Given the description of an element on the screen output the (x, y) to click on. 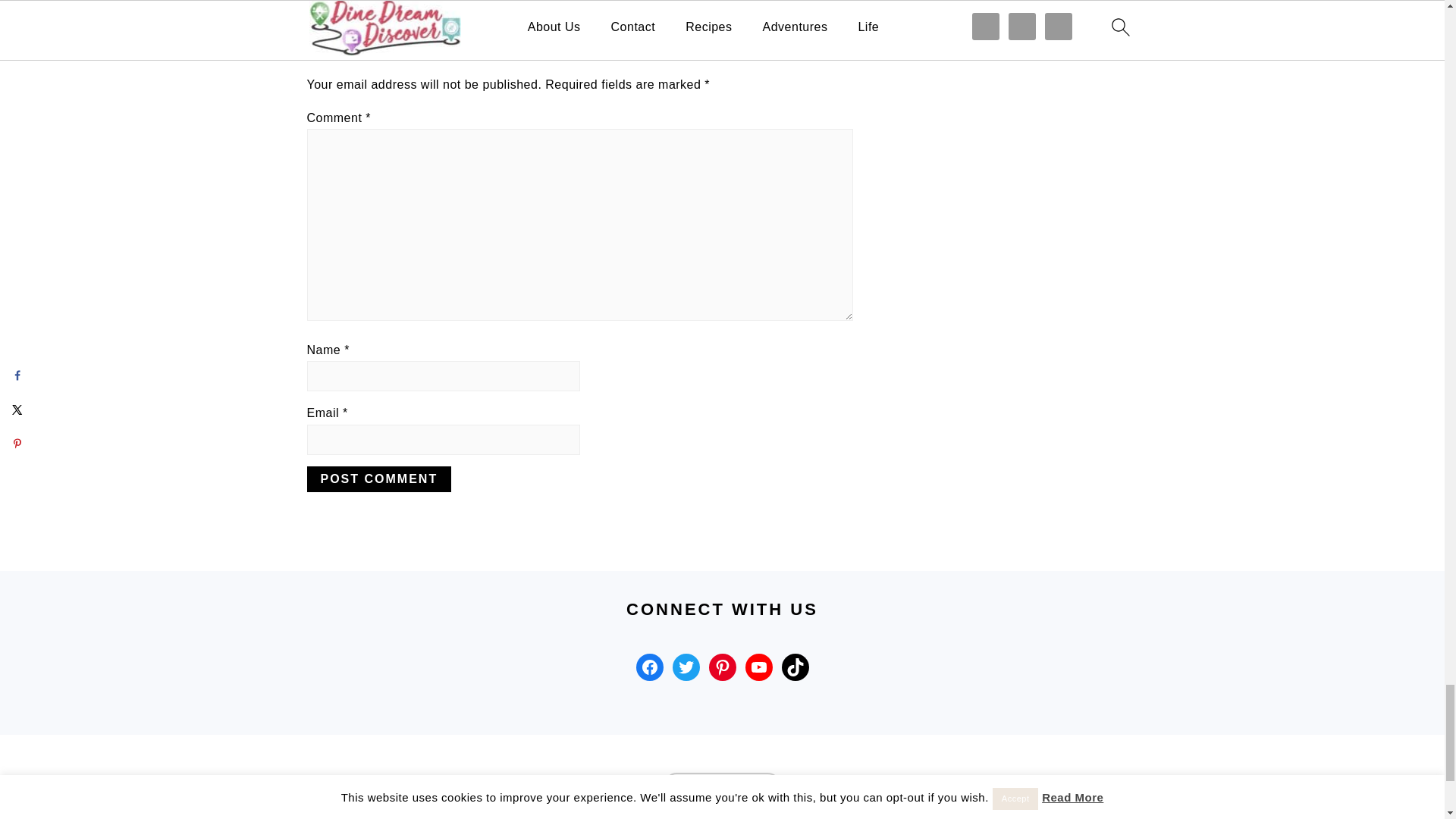
Post Comment (378, 479)
